Given the description of an element on the screen output the (x, y) to click on. 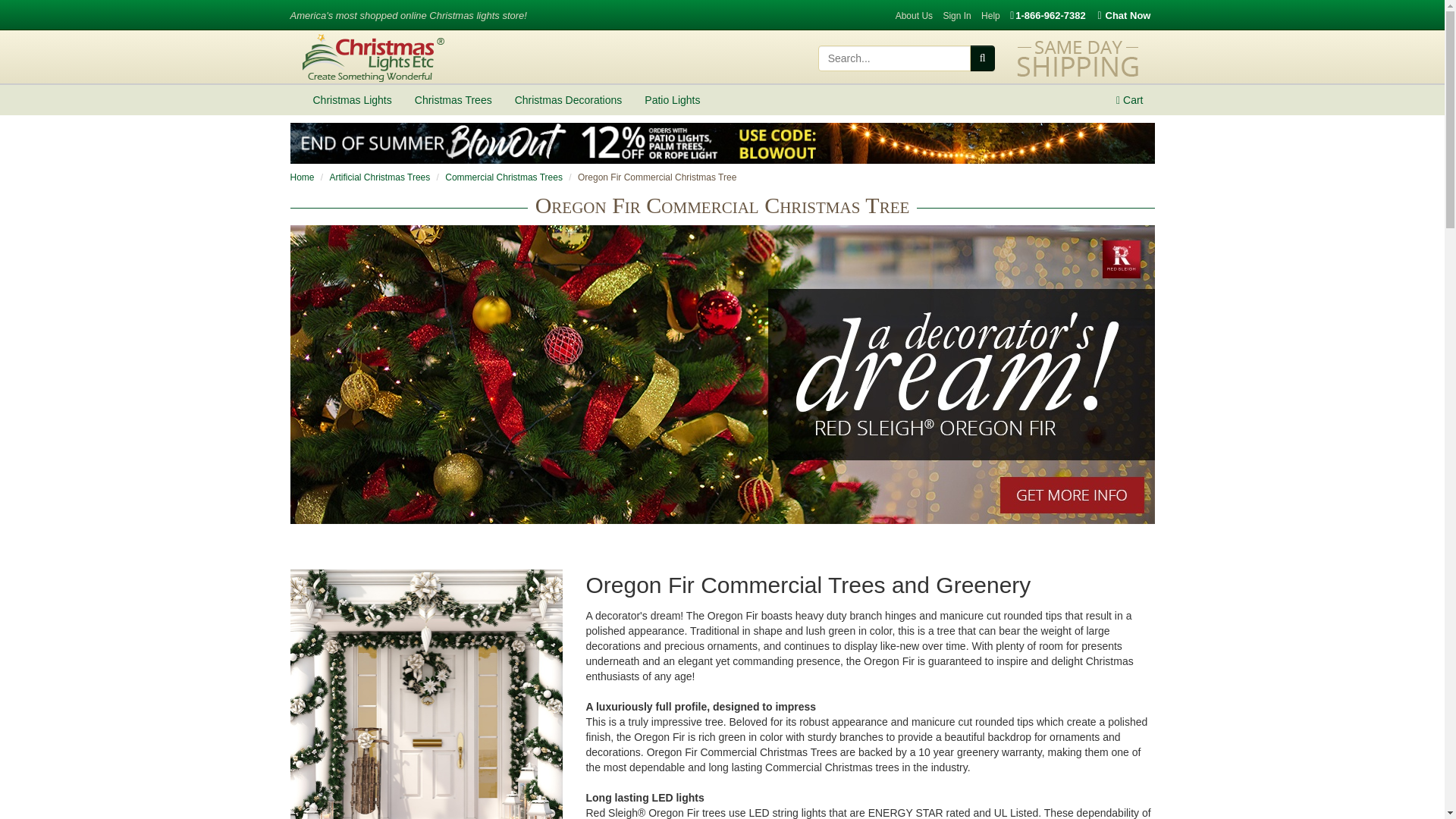
Christmas Trees (453, 100)
Christmas Lights (352, 100)
Christmas Decorations (568, 100)
Help (990, 15)
Patio Lights (672, 100)
About Us (914, 15)
Sign In (956, 15)
